Given the description of an element on the screen output the (x, y) to click on. 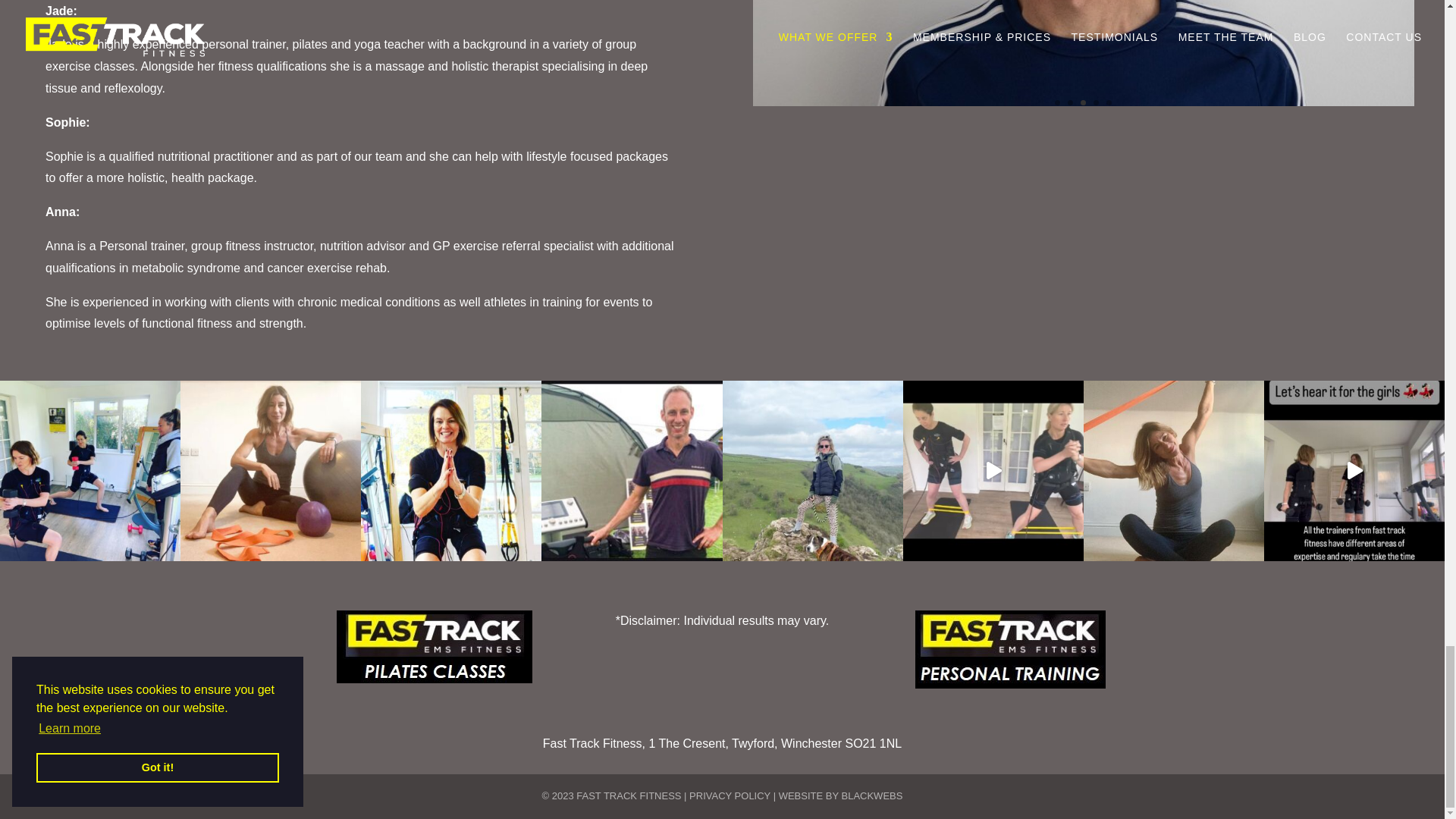
FastTrack-20.06.2023-9755 (1082, 101)
